Given the description of an element on the screen output the (x, y) to click on. 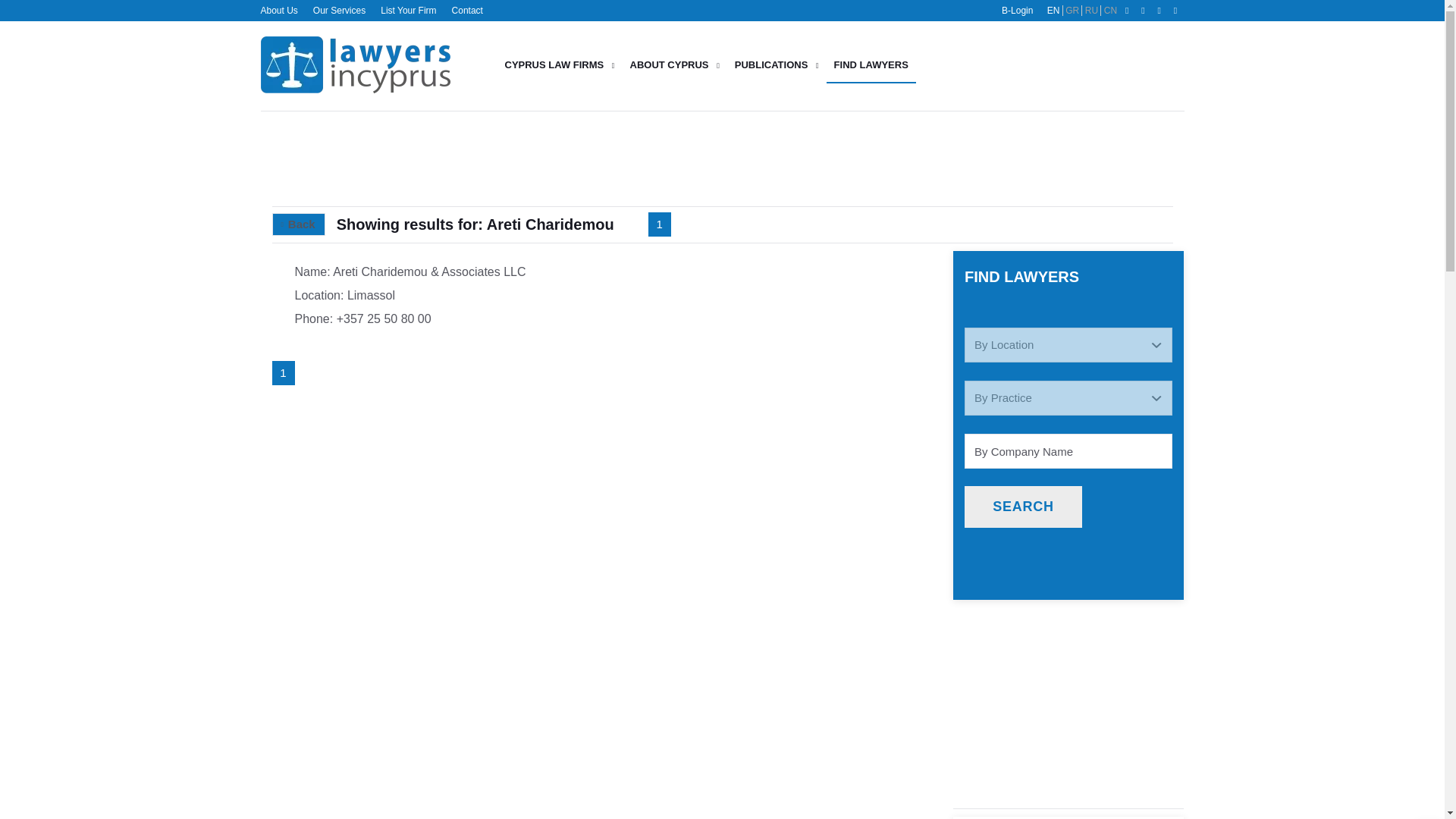
3rd party ad content (1072, 158)
3rd party ad content (1072, 65)
3rd party ad content (1068, 648)
3rd party ad content (603, 158)
3rd party ad content (1068, 735)
